Given the description of an element on the screen output the (x, y) to click on. 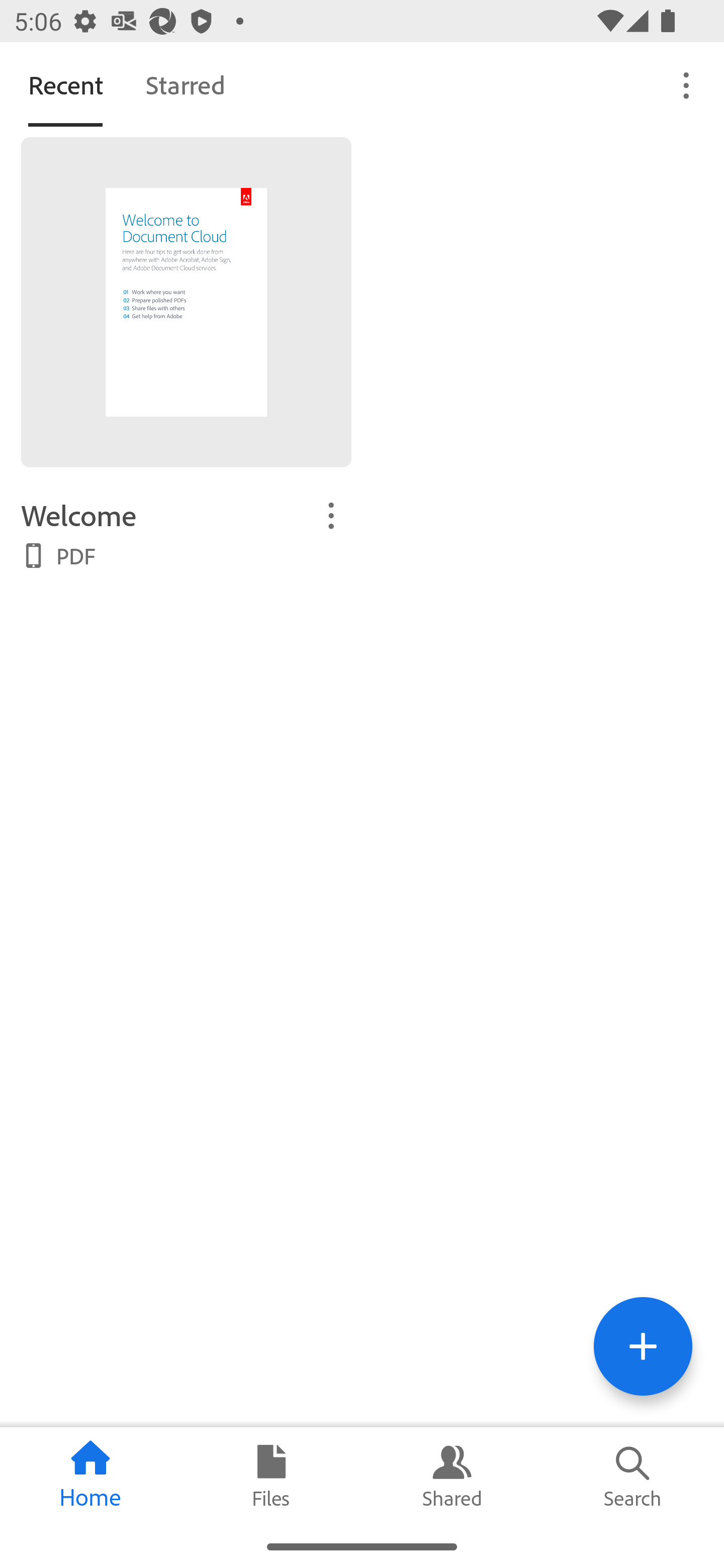
Recent (65, 84)
Starred (185, 84)
Overflow (687, 84)
Welcome Stored On This Device PDF Overflow (185, 532)
Tools (642, 1345)
Home (90, 1475)
Files (271, 1475)
Shared (452, 1475)
Search (633, 1475)
